Given the description of an element on the screen output the (x, y) to click on. 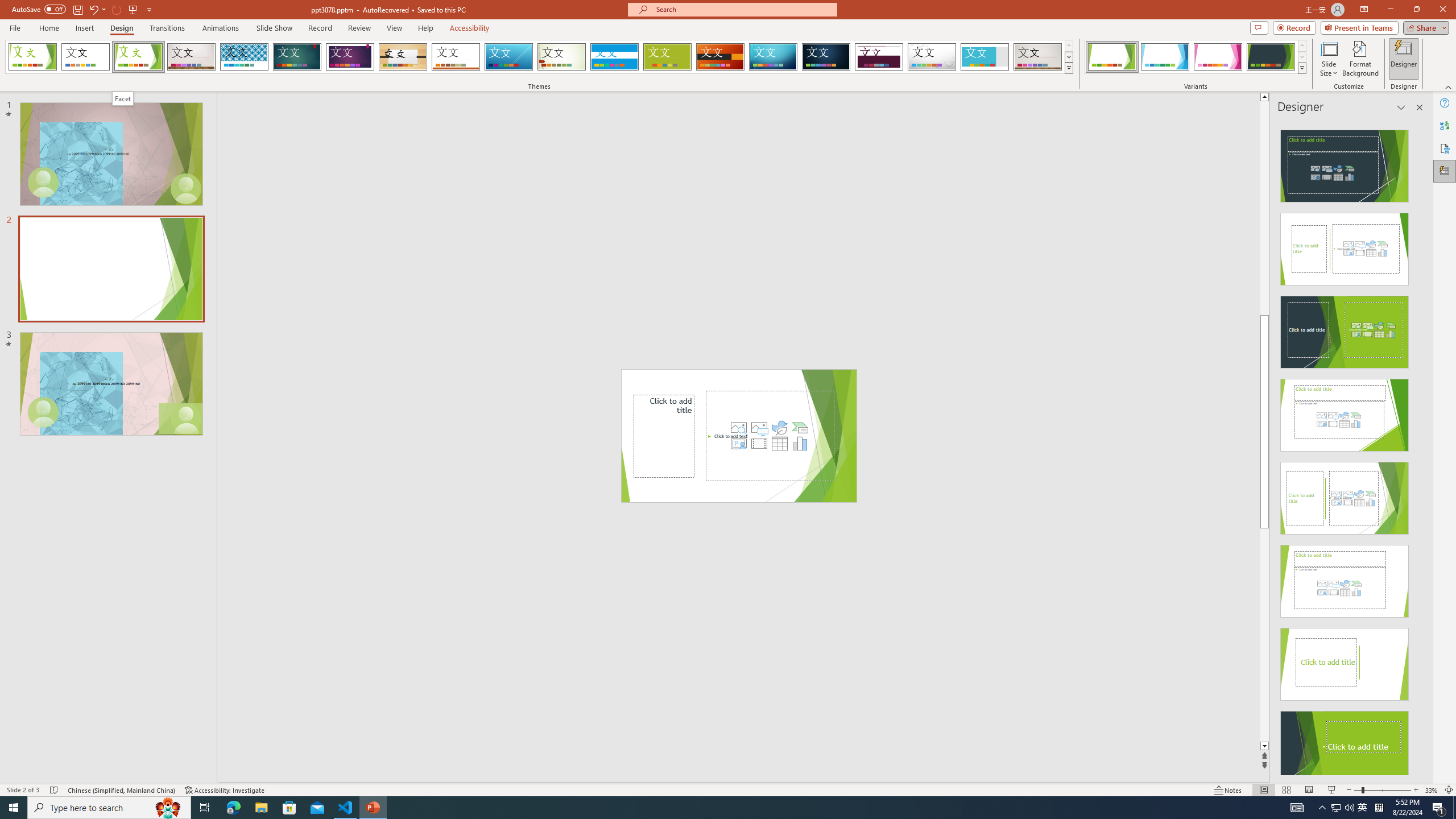
Class: NetUIScrollBar (1418, 447)
Damask (826, 56)
Insert Chart (799, 443)
Slice (508, 56)
Basis (667, 56)
AutomationID: SlideThemesGallery (539, 56)
